Given the description of an element on the screen output the (x, y) to click on. 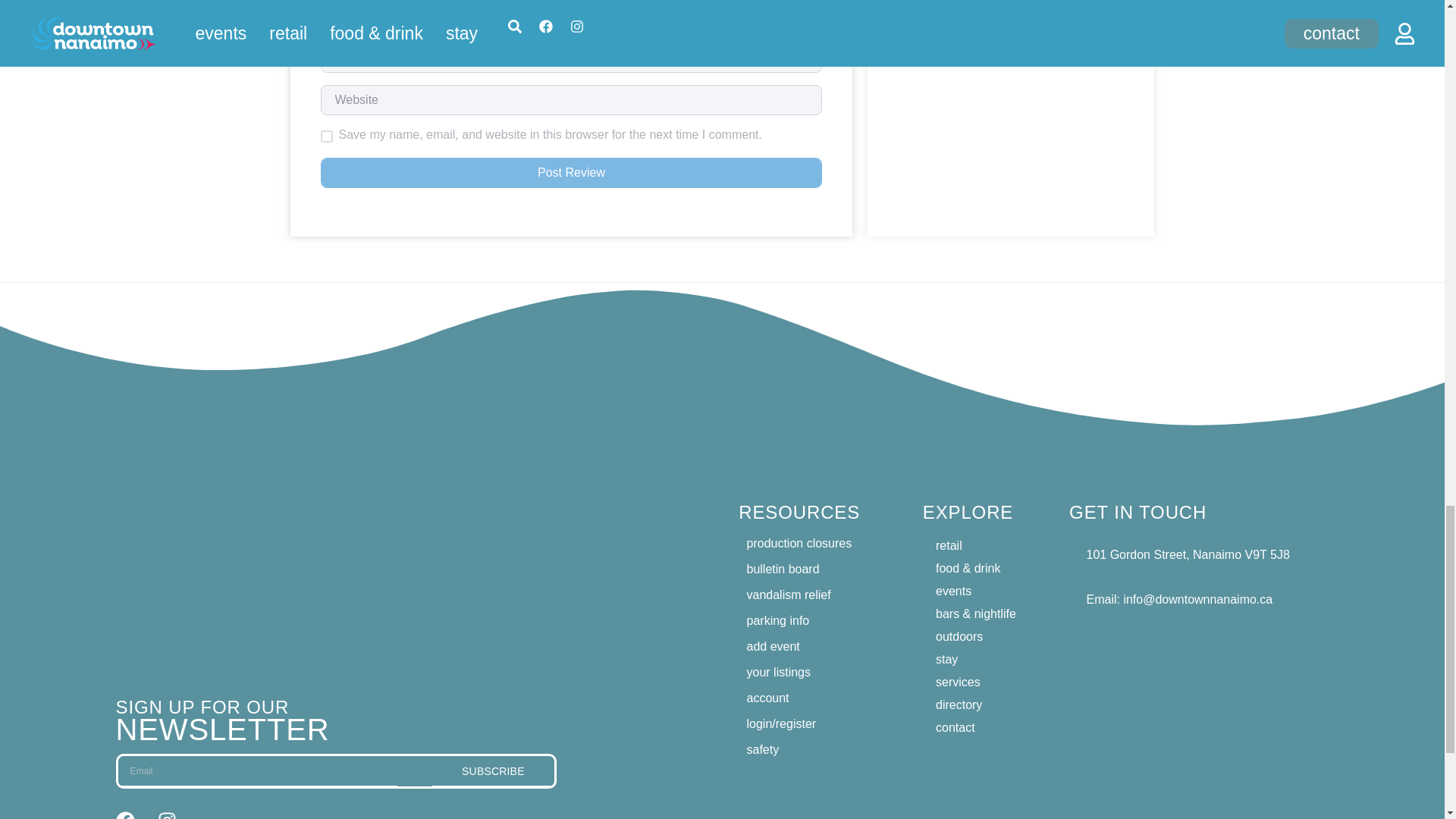
yes (325, 136)
Post Review (571, 173)
